Given the description of an element on the screen output the (x, y) to click on. 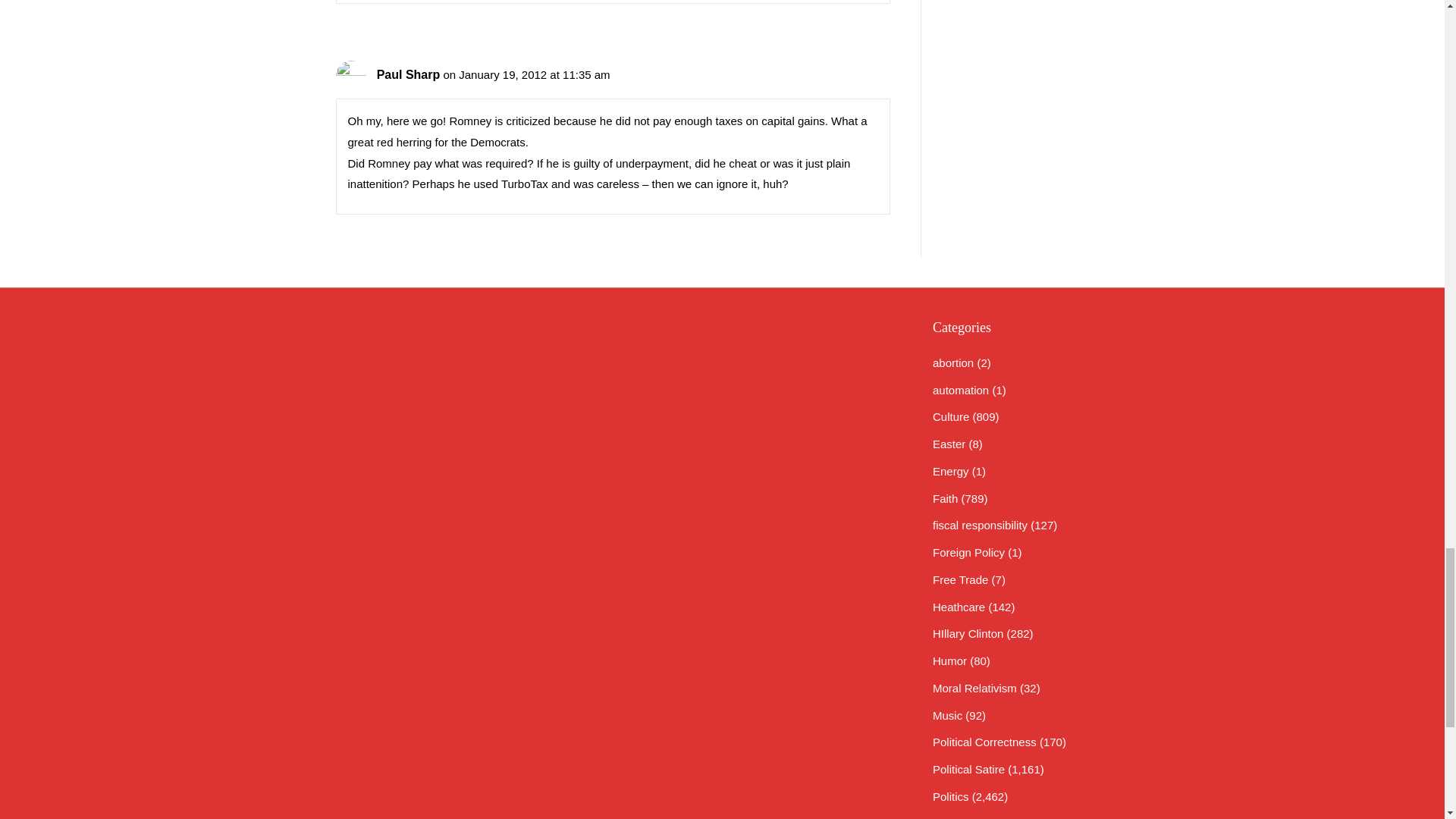
Easter (949, 443)
Faith (945, 498)
automation (960, 390)
Energy (951, 471)
Free Trade (960, 579)
Heathcare (959, 606)
abortion (953, 362)
Foreign Policy (968, 552)
fiscal responsibility (980, 524)
Culture (951, 416)
